Given the description of an element on the screen output the (x, y) to click on. 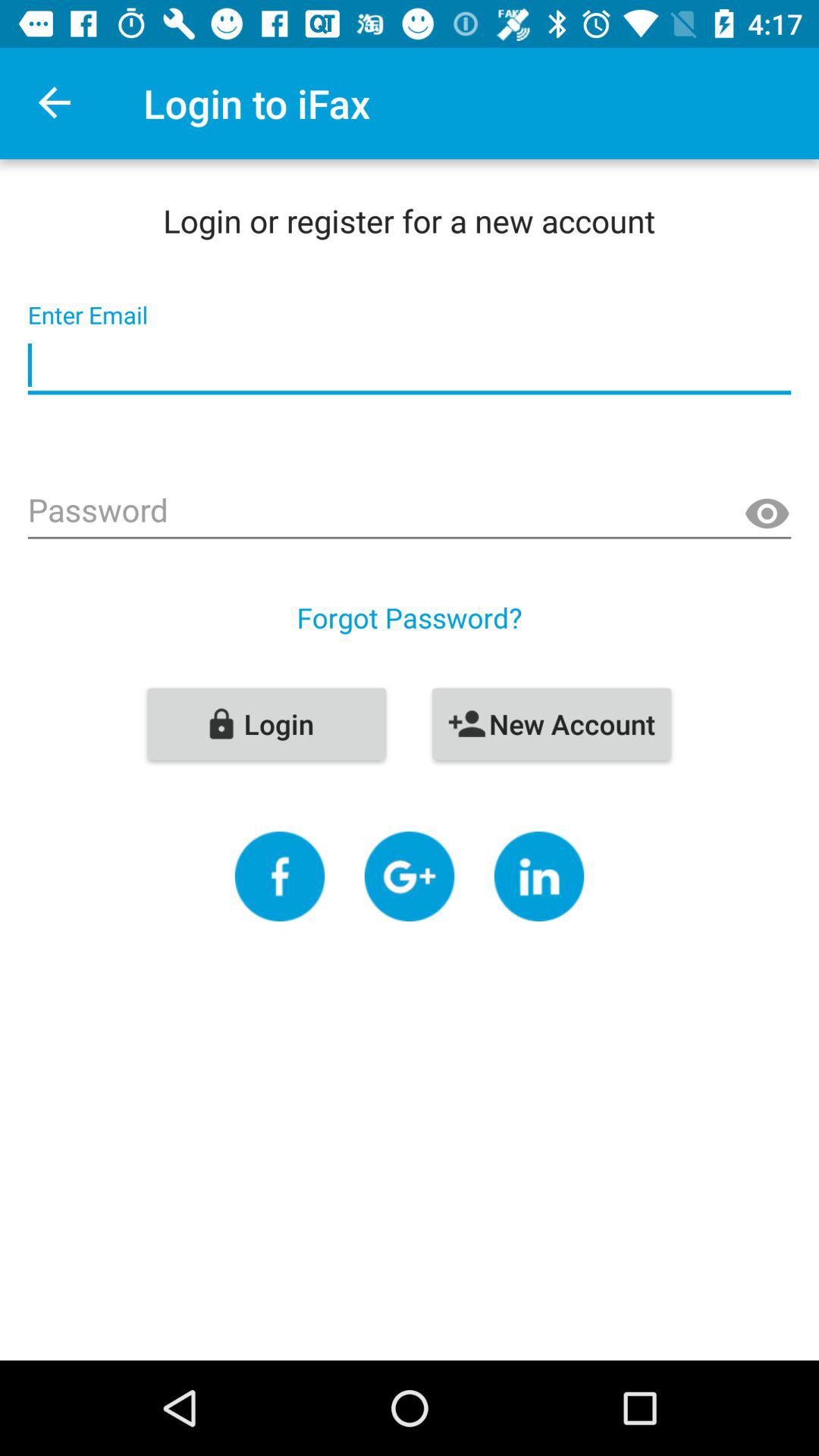
password (409, 511)
